Given the description of an element on the screen output the (x, y) to click on. 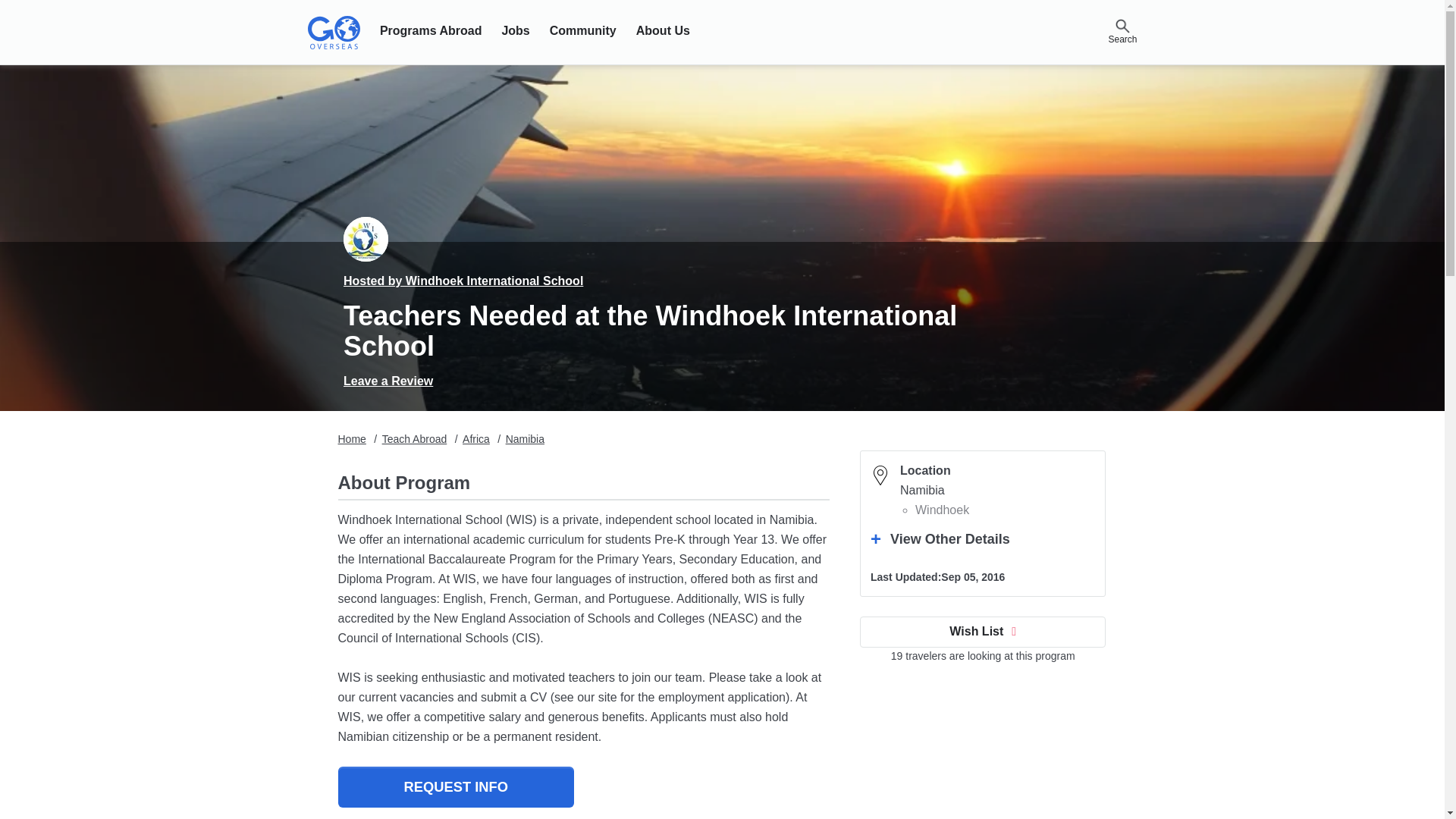
REQUEST INFO (455, 786)
Africa (476, 439)
Leave a Review (387, 380)
Namibia (524, 439)
Leave a Review (387, 380)
Add this program to your wish list. (982, 631)
Teach Abroad (413, 439)
Home (351, 439)
Hosted by Windhoek International School (463, 280)
Windhoek International School (365, 239)
